Given the description of an element on the screen output the (x, y) to click on. 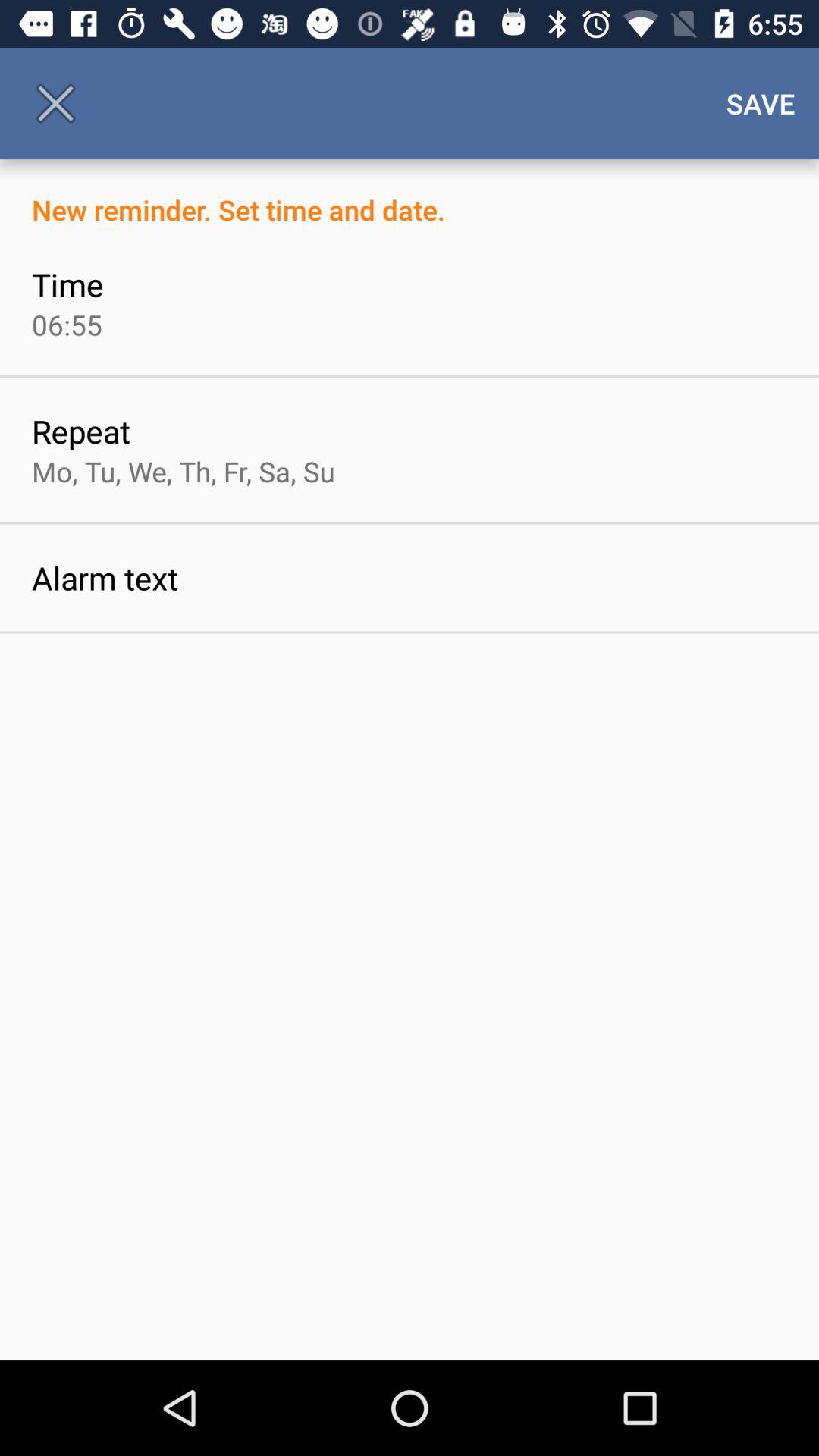
click item above repeat item (66, 324)
